Given the description of an element on the screen output the (x, y) to click on. 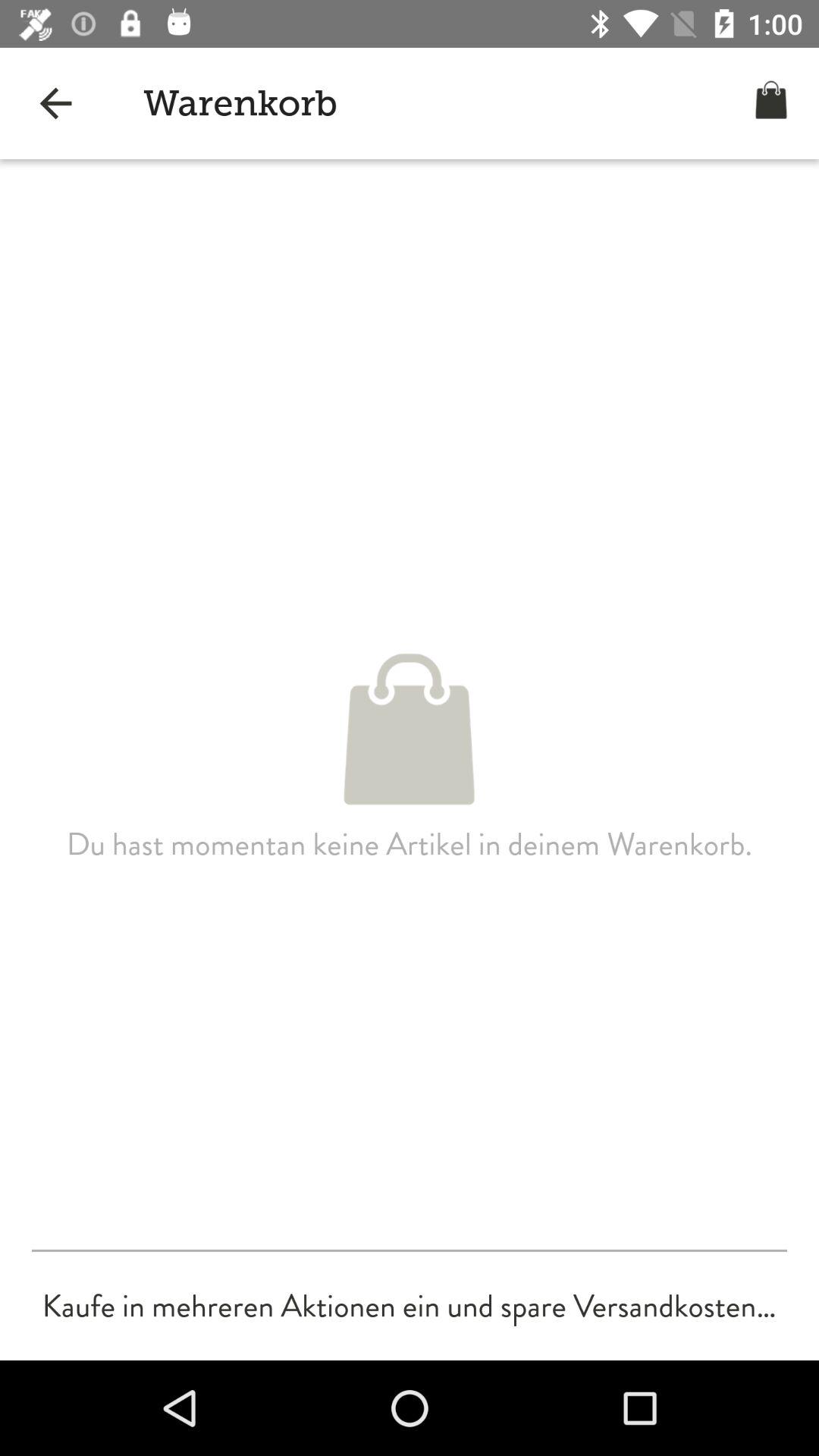
jump to the kaufe in mehreren (409, 1305)
